Given the description of an element on the screen output the (x, y) to click on. 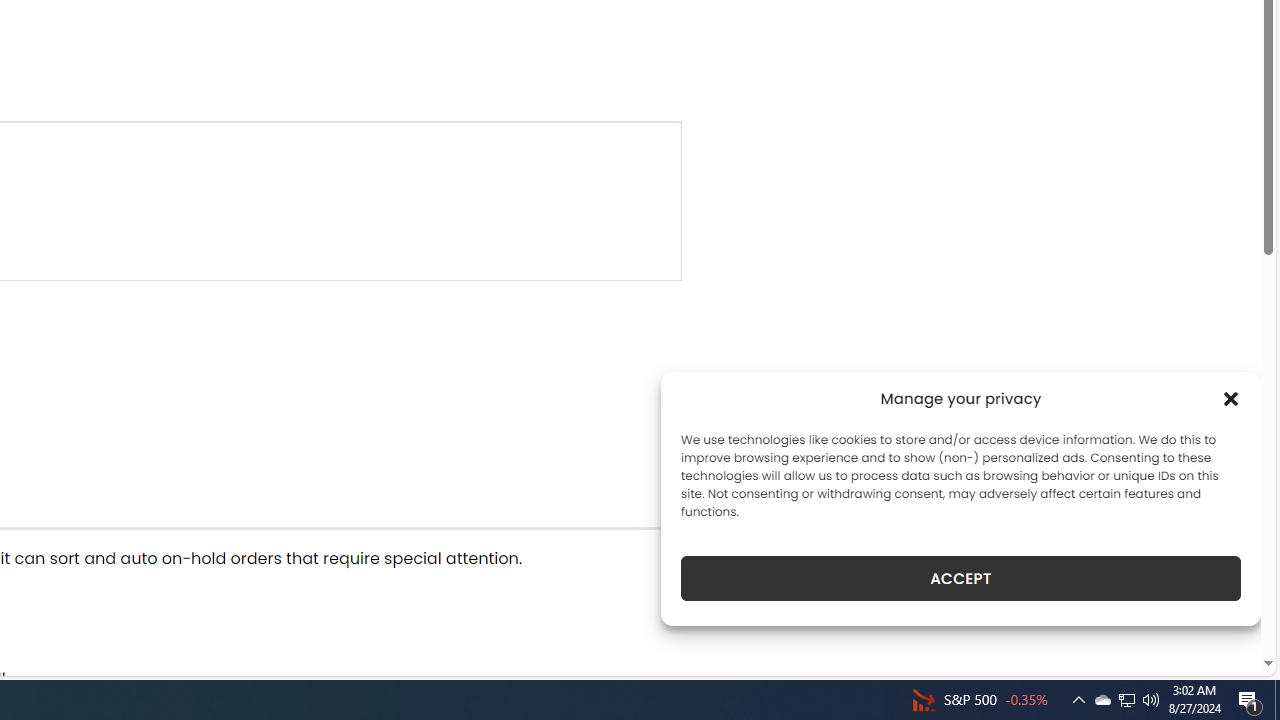
ACCEPT (960, 578)
Class: cmplz-close (1231, 398)
